Given the description of an element on the screen output the (x, y) to click on. 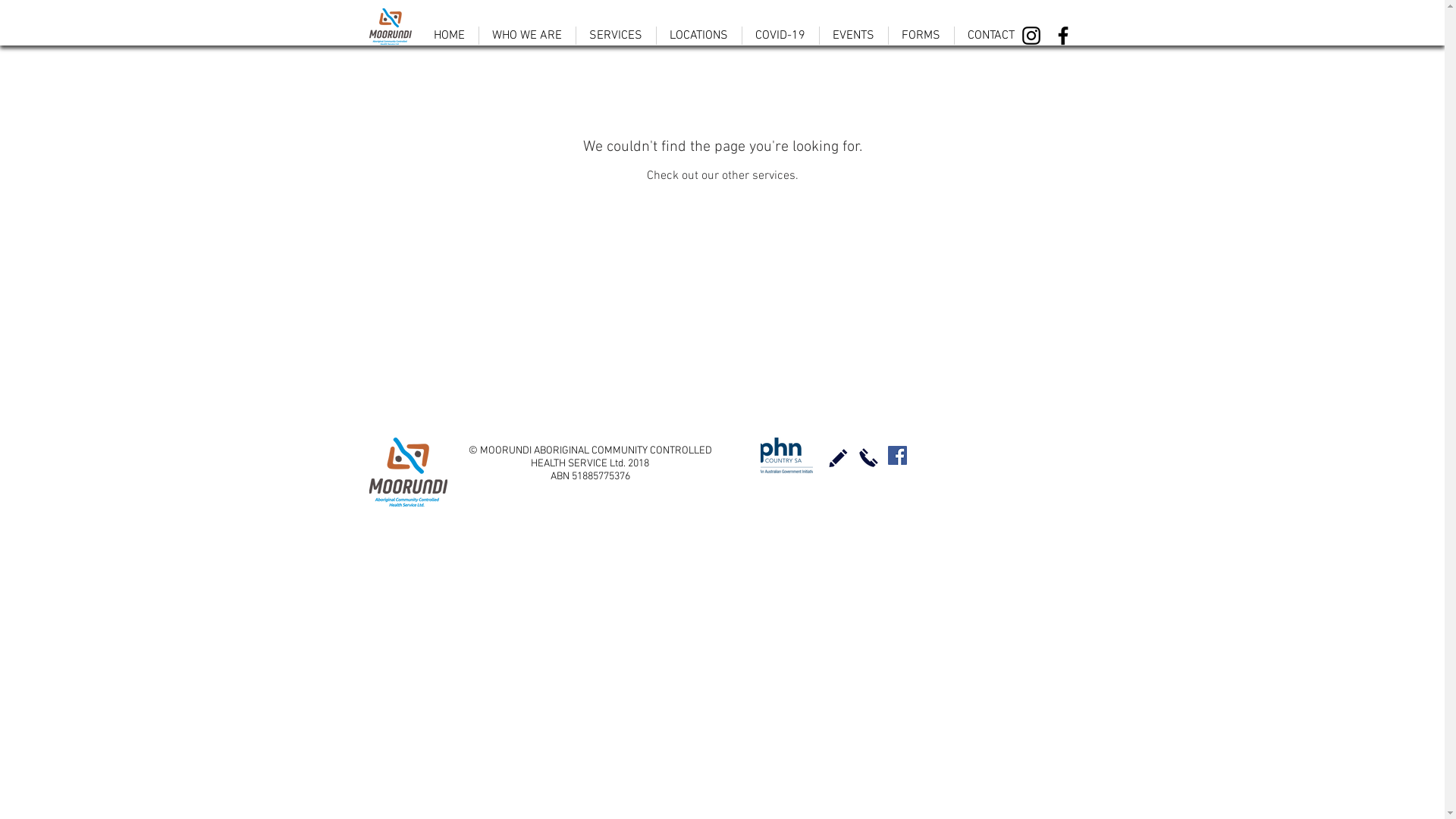
CONTACT Element type: text (990, 35)
HOME Element type: text (448, 35)
EVENTS Element type: text (853, 35)
COVID-19 Element type: text (779, 35)
Site Search Element type: hover (995, 456)
